Given the description of an element on the screen output the (x, y) to click on. 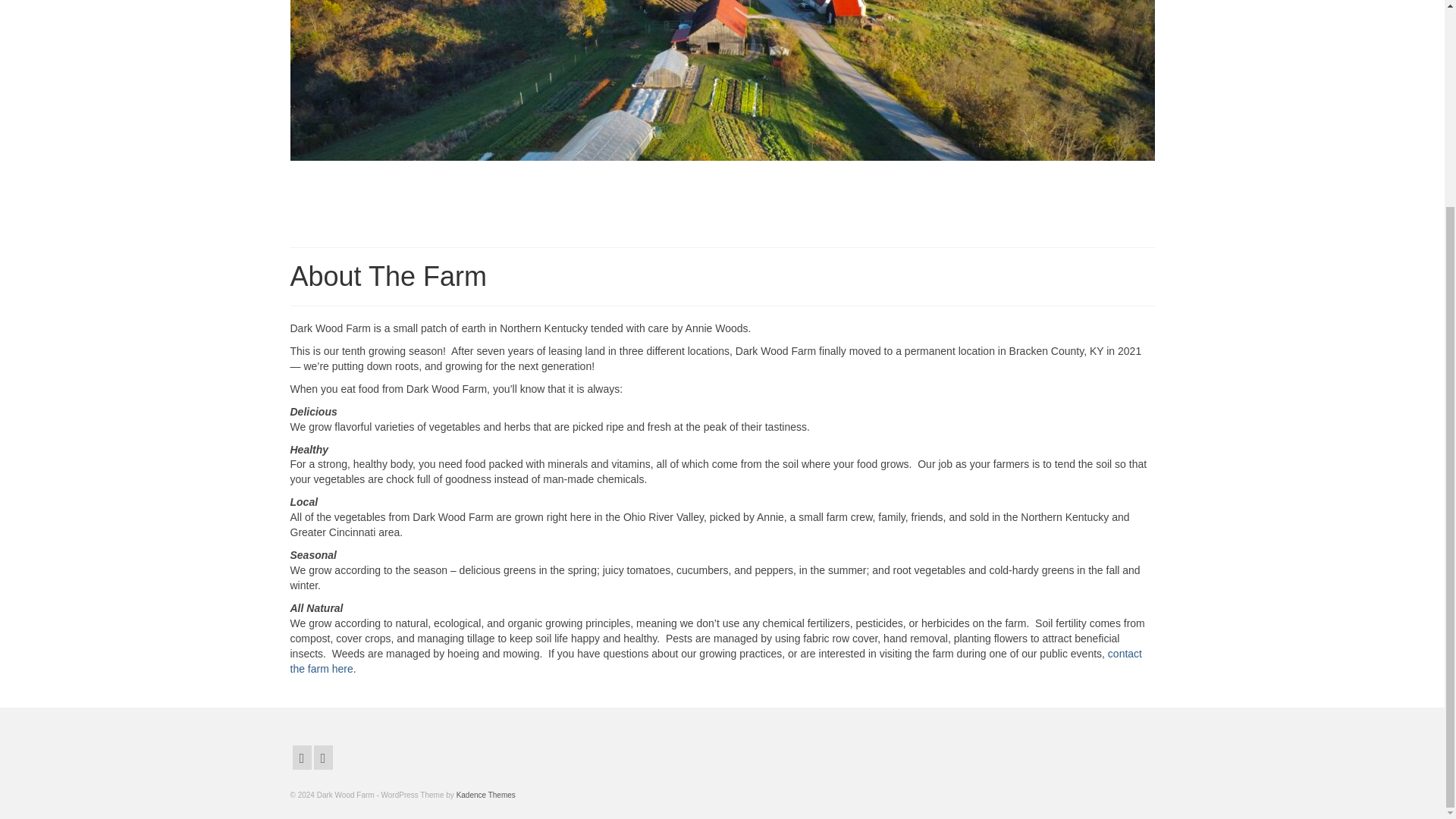
Kadence Themes (486, 795)
Contact (715, 660)
contact the farm here (715, 660)
